Given the description of an element on the screen output the (x, y) to click on. 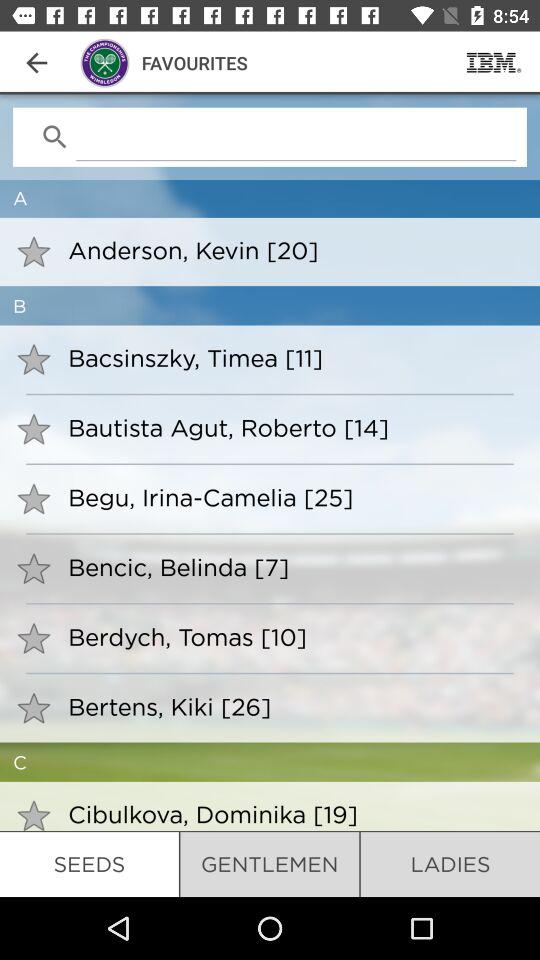
open c item (270, 761)
